Given the description of an element on the screen output the (x, y) to click on. 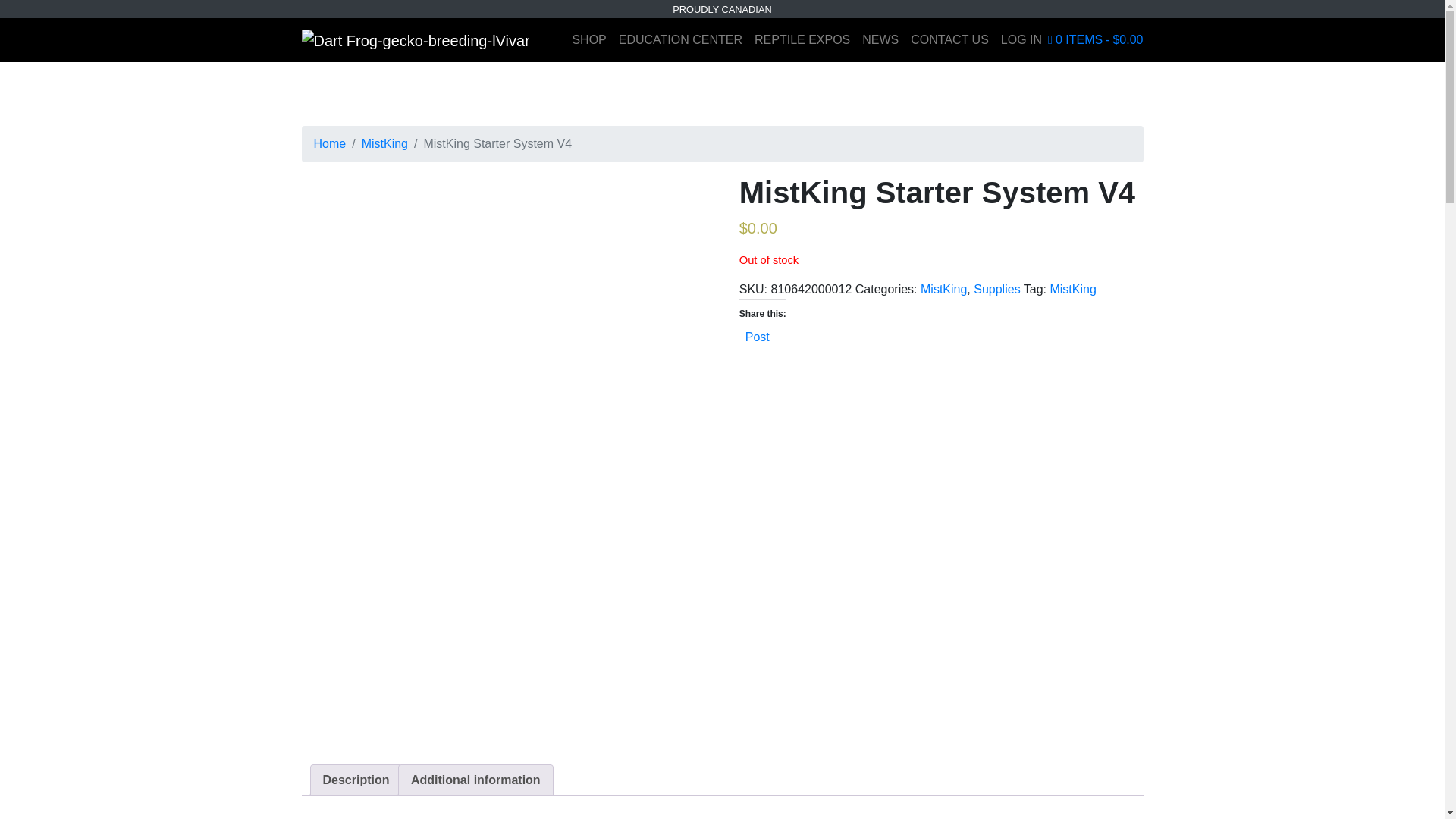
EDUCATION CENTER (680, 40)
CONTACT US (949, 40)
REPTILE EXPOS (802, 40)
Shop (588, 40)
LOG IN (1021, 40)
SHOP (588, 40)
NEWS (880, 40)
PROUDLY CANADIAN (721, 9)
